Given the description of an element on the screen output the (x, y) to click on. 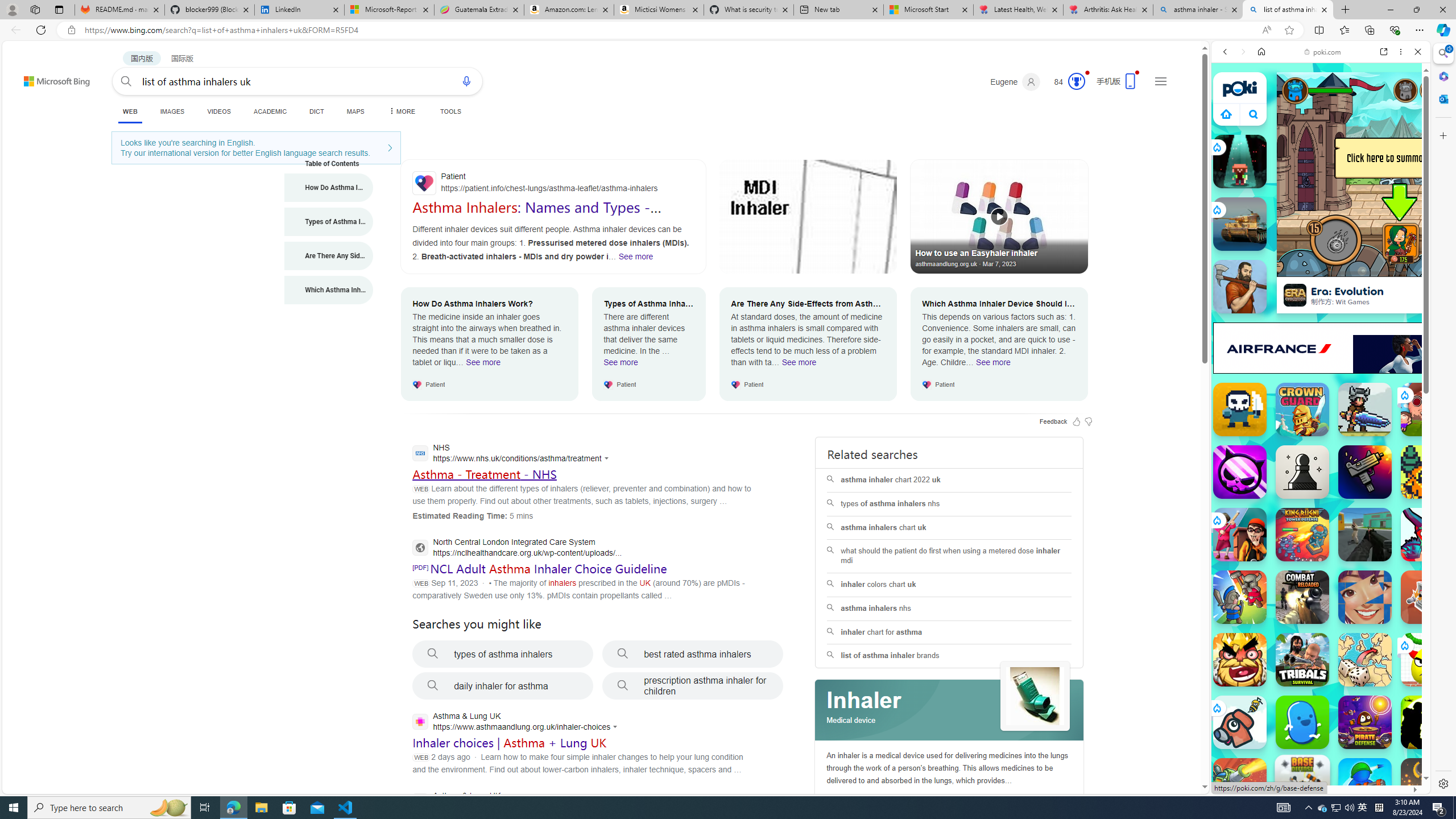
Games for Girls (1320, 407)
TOOLS (450, 111)
Combat Online Combat Online (1364, 534)
ACADEMIC (269, 111)
Like a King (1239, 659)
best rated asthma inhalers (692, 653)
Show More Car Games (1390, 268)
AutomationID: rh_meter (1076, 80)
Eugene (1015, 81)
Show More Io Games (1390, 351)
